Given the description of an element on the screen output the (x, y) to click on. 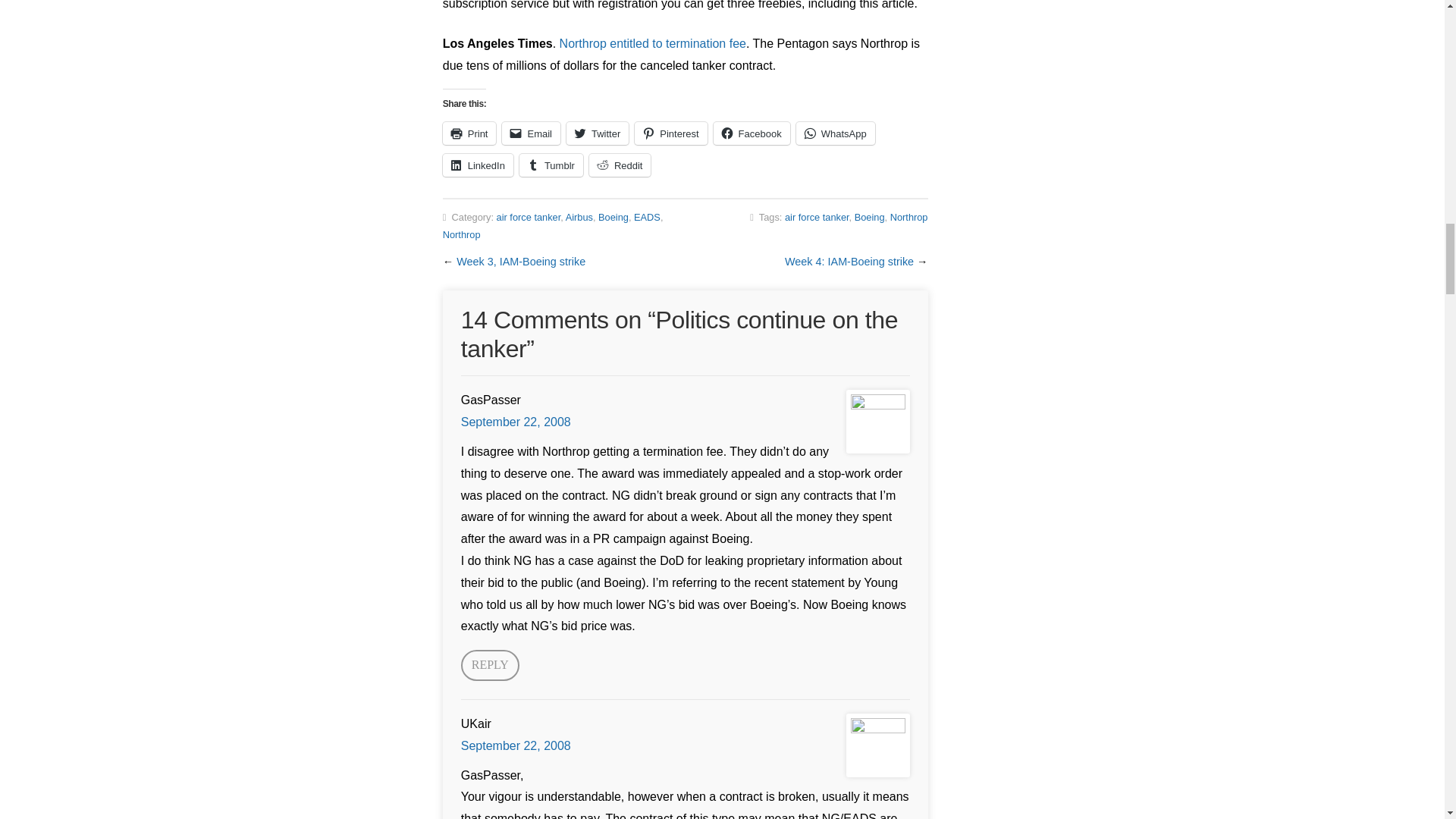
Click to email a link to a friend (531, 133)
LinkedIn (477, 164)
Click to share on WhatsApp (835, 133)
Click to share on Twitter (597, 133)
Click to share on Tumblr (551, 164)
Click to share on Pinterest (670, 133)
Facebook (751, 133)
Click to share on LinkedIn (477, 164)
Email (531, 133)
WhatsApp (835, 133)
